Given the description of an element on the screen output the (x, y) to click on. 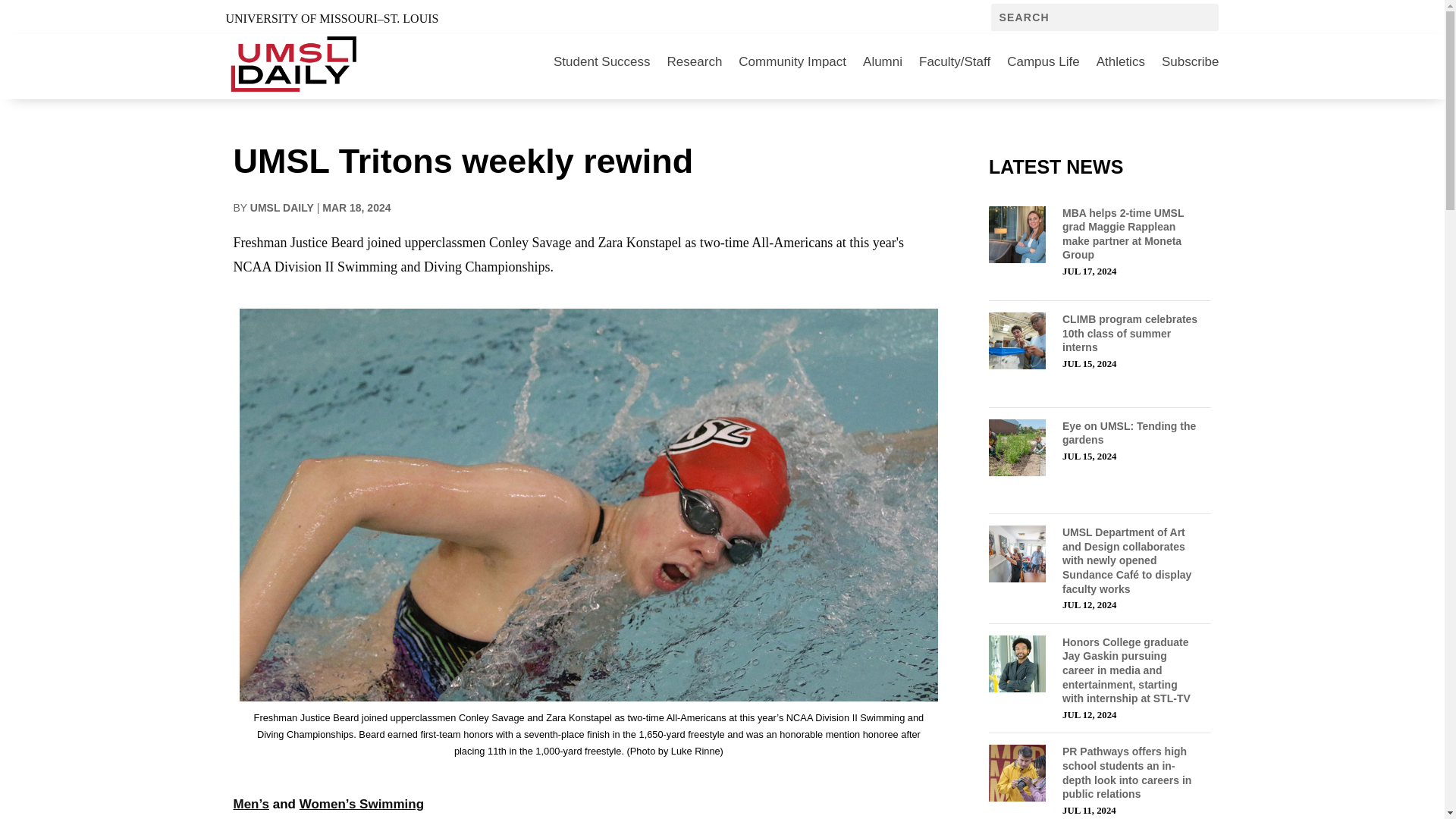
Subscribe (1190, 62)
Posts by UMSL Daily (282, 207)
Research (694, 62)
Eye on UMSL: Tending the gardens (1128, 433)
UMSL DAILY (282, 207)
Campus Life (1042, 62)
Search (29, 13)
Subscribe (1190, 62)
Community Impact (791, 62)
Athletics (1120, 62)
Student Success (601, 62)
Alumni (882, 62)
